Given the description of an element on the screen output the (x, y) to click on. 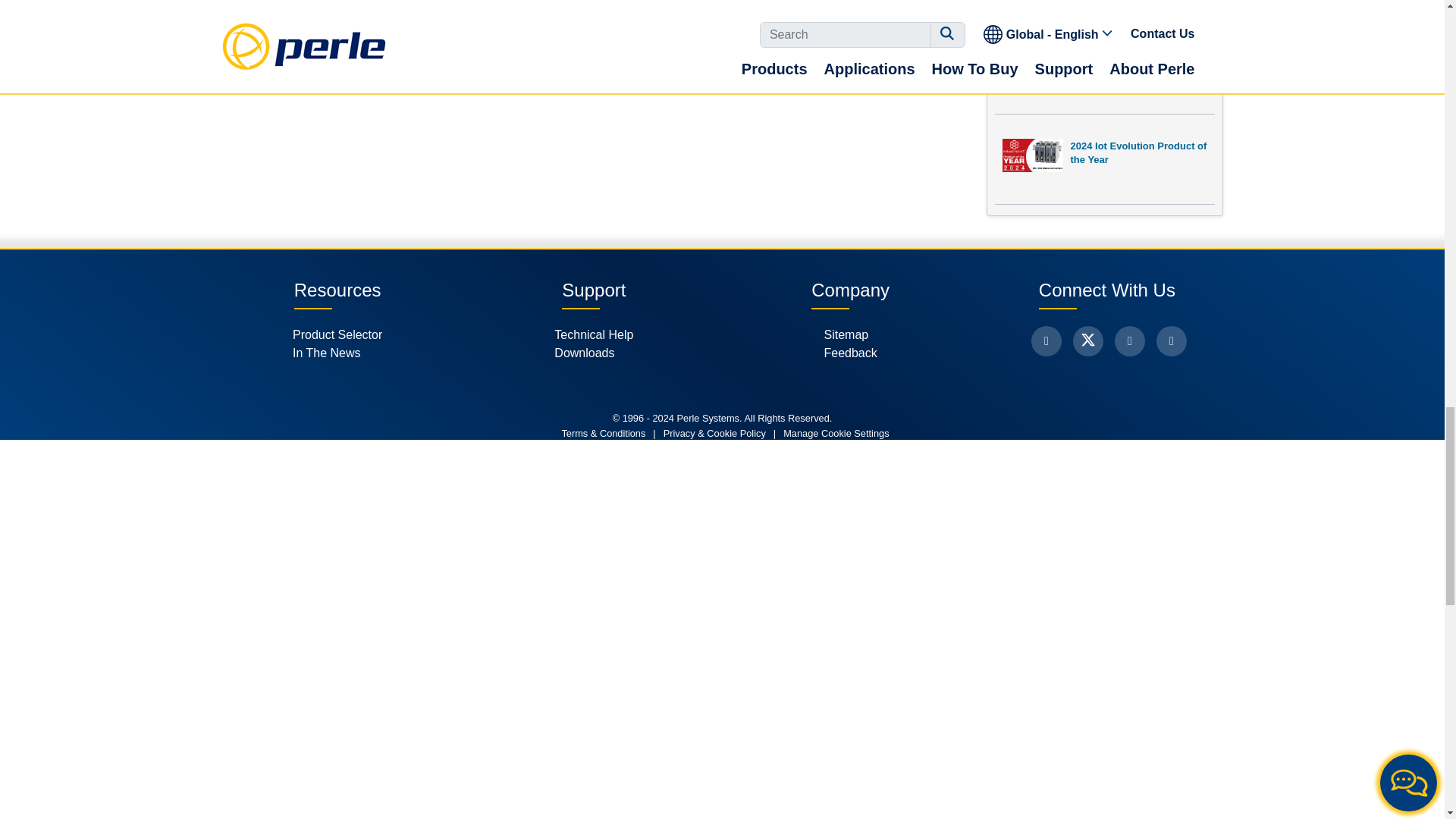
Rss Feed (1171, 340)
Technical Help (593, 334)
twiter (1088, 340)
Manage Cookie Settings (835, 432)
Facebook (1045, 340)
LinkedIn (1129, 340)
Sitemap (850, 334)
Product Selector (336, 334)
In The News (336, 352)
Downloads (593, 352)
